Given the description of an element on the screen output the (x, y) to click on. 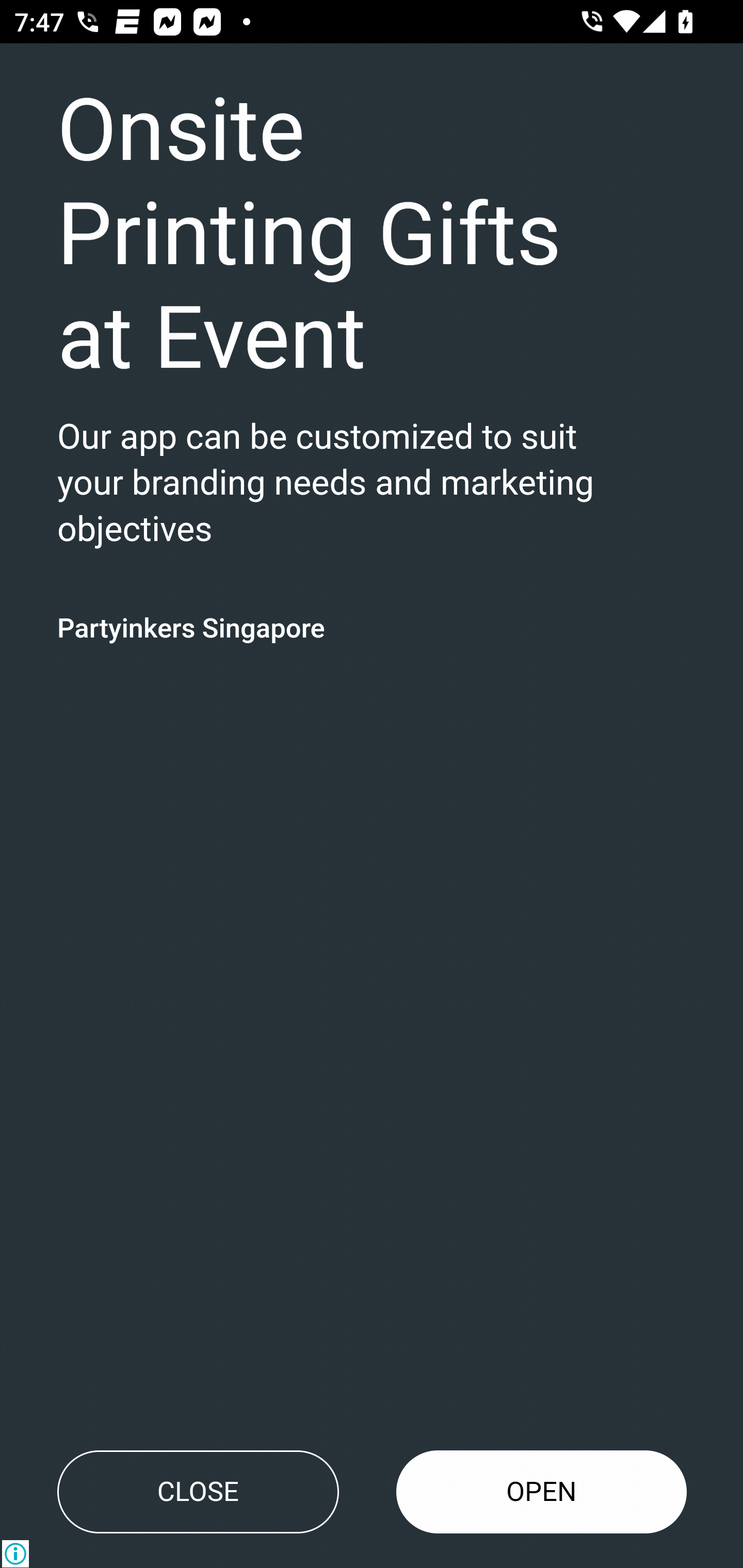
Partyinkers Singapore (190, 626)
CLOSE (197, 1491)
OPEN (541, 1491)
